Given the description of an element on the screen output the (x, y) to click on. 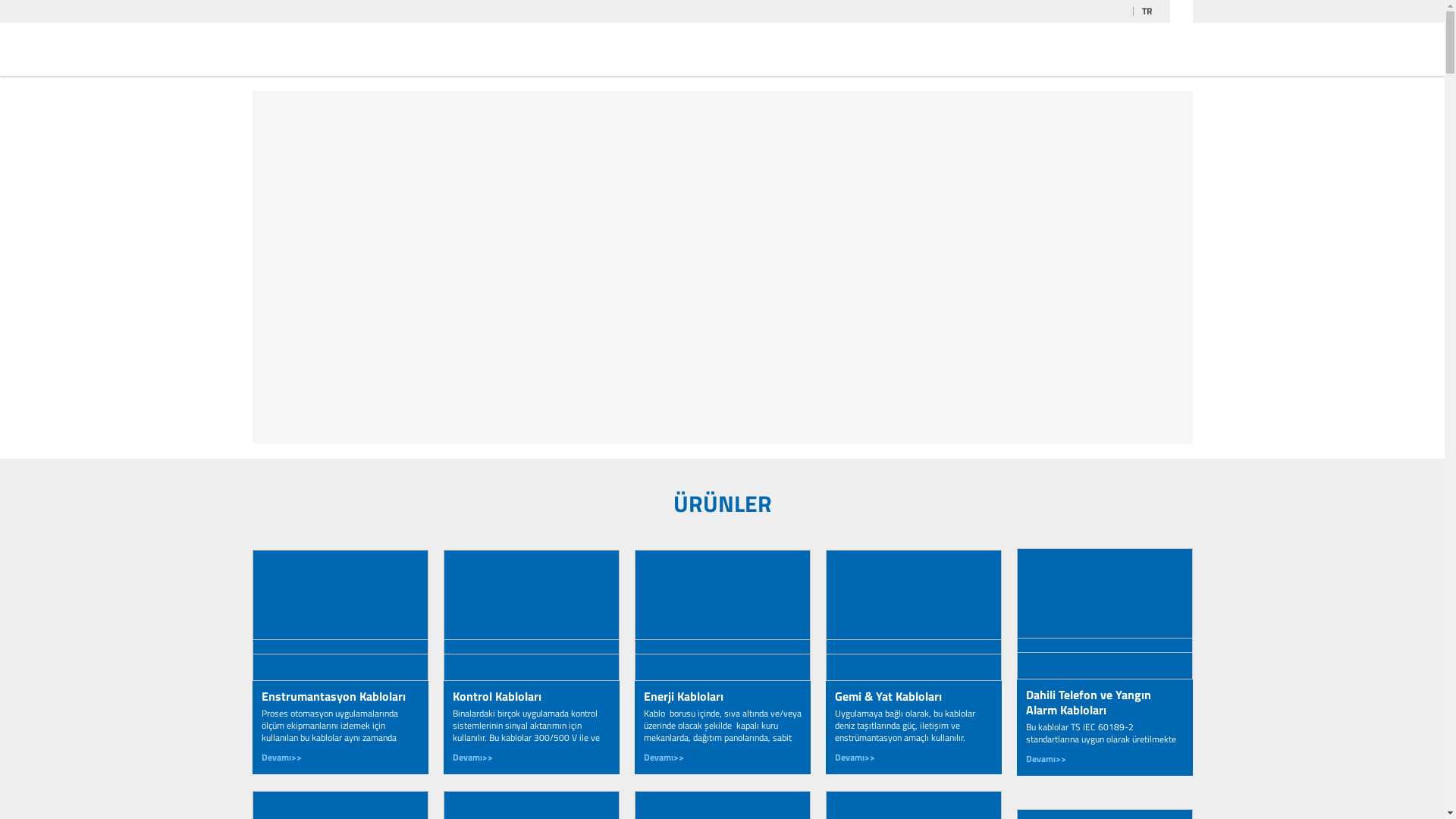
INSTAGRAM Element type: text (1074, 11)
TR Element type: text (1151, 11)
YOUTUBE Element type: text (1054, 11)
LINKEDIN Element type: text (1034, 11)
FACEBOOK Element type: text (1093, 11)
2M KABLO Element type: text (337, 49)
ARA Element type: text (1180, 11)
